Given the description of an element on the screen output the (x, y) to click on. 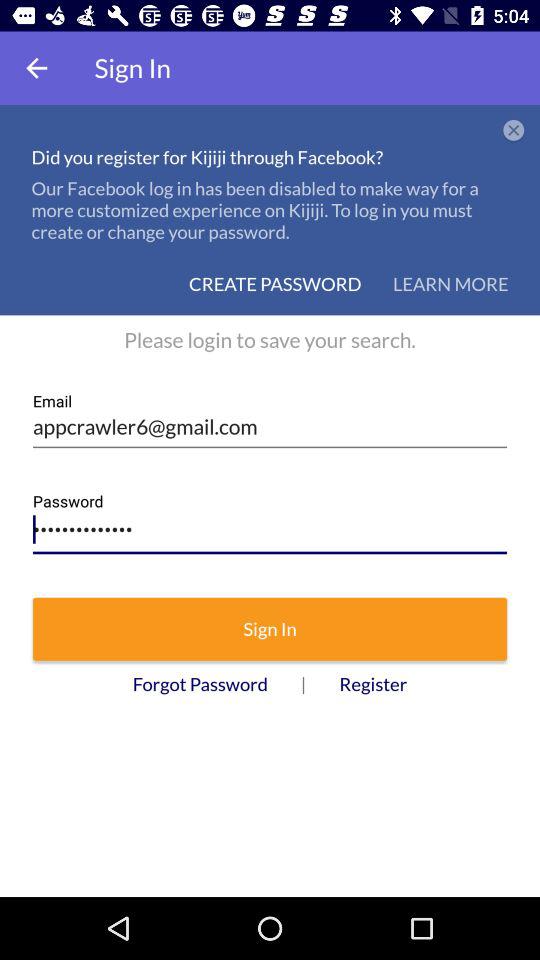
flip until learn more (450, 283)
